Given the description of an element on the screen output the (x, y) to click on. 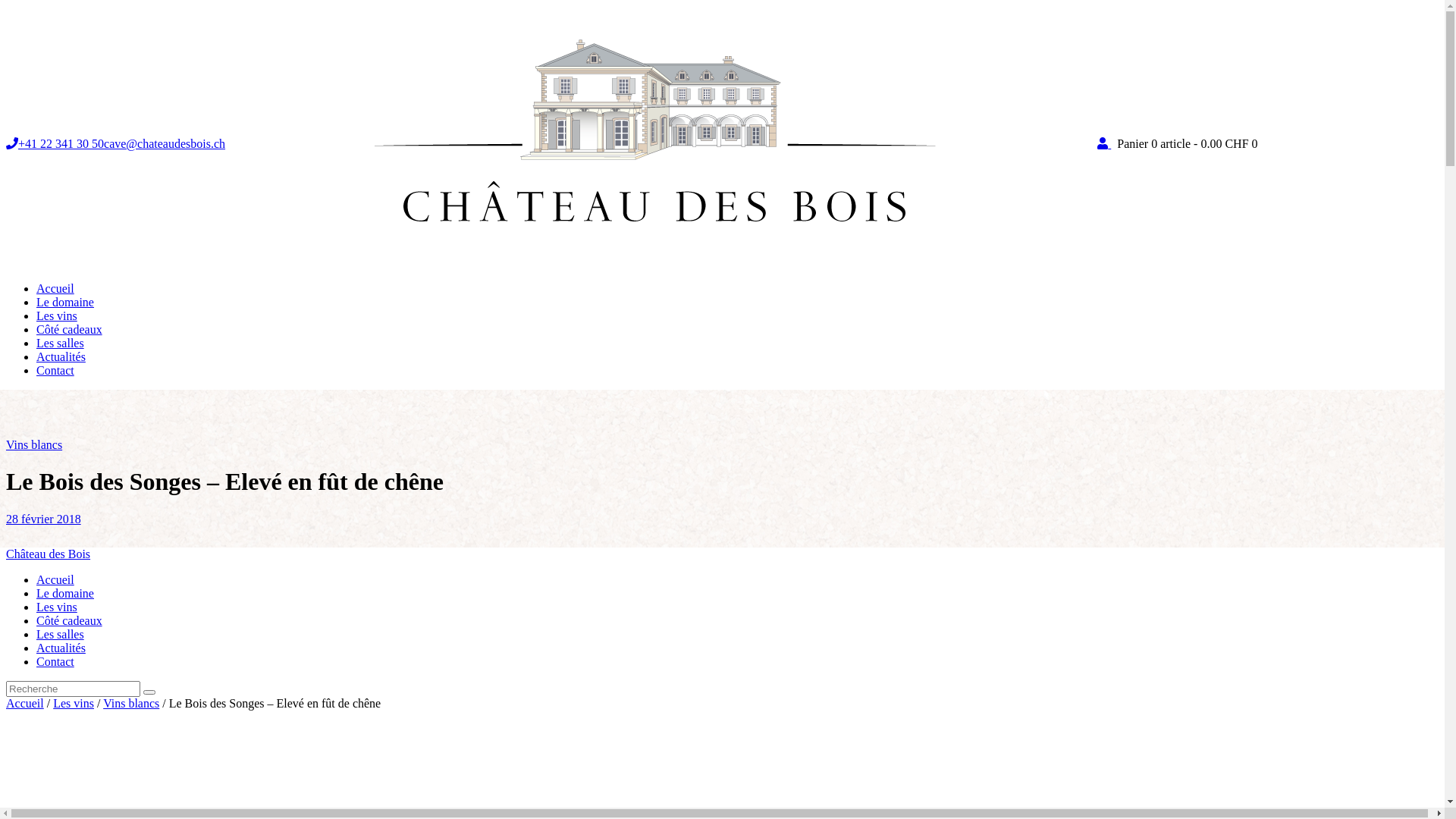
Les vins Element type: text (56, 315)
Contact Element type: text (55, 661)
Accueil Element type: text (55, 288)
Accueil Element type: text (24, 702)
Le domaine Element type: text (65, 301)
Le domaine Element type: text (65, 592)
Les vins Element type: text (73, 702)
Vins blancs Element type: text (131, 702)
Contact Element type: text (55, 370)
+41 22 341 30 50cave@chateaudesbois.ch Element type: text (115, 143)
My Account Element type: hover (1103, 143)
Les salles Element type: text (60, 342)
Les vins Element type: text (56, 606)
Les salles Element type: text (60, 633)
Accueil Element type: text (55, 579)
Vins blancs Element type: text (34, 444)
